Given the description of an element on the screen output the (x, y) to click on. 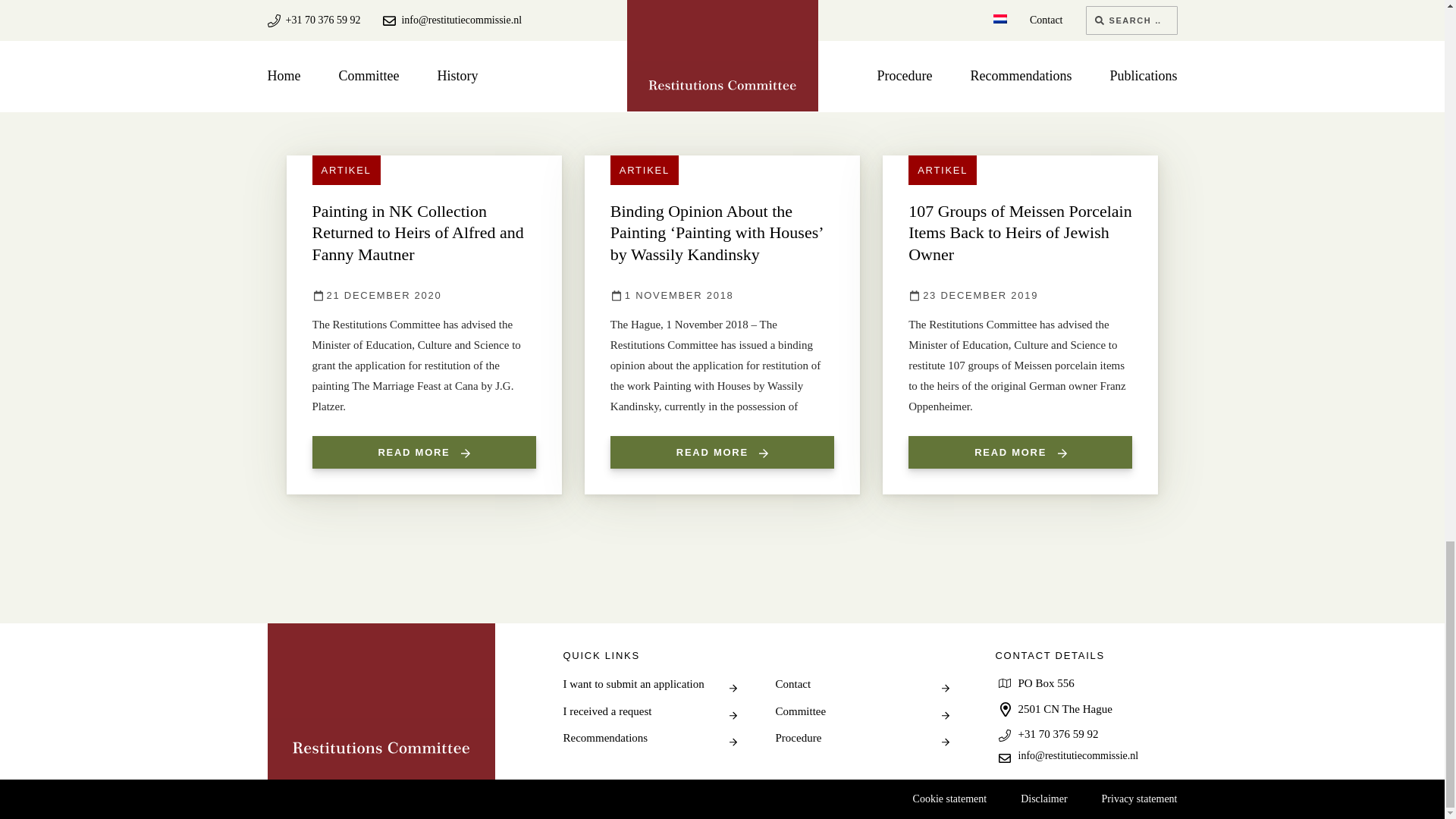
Contact (861, 684)
I want to submit an application (649, 684)
Procedure (861, 738)
Recommendations (649, 738)
Privacy statement (1139, 798)
Committee (861, 711)
home Restitutiecommissie (380, 700)
Disclaimer (1043, 798)
